Given the description of an element on the screen output the (x, y) to click on. 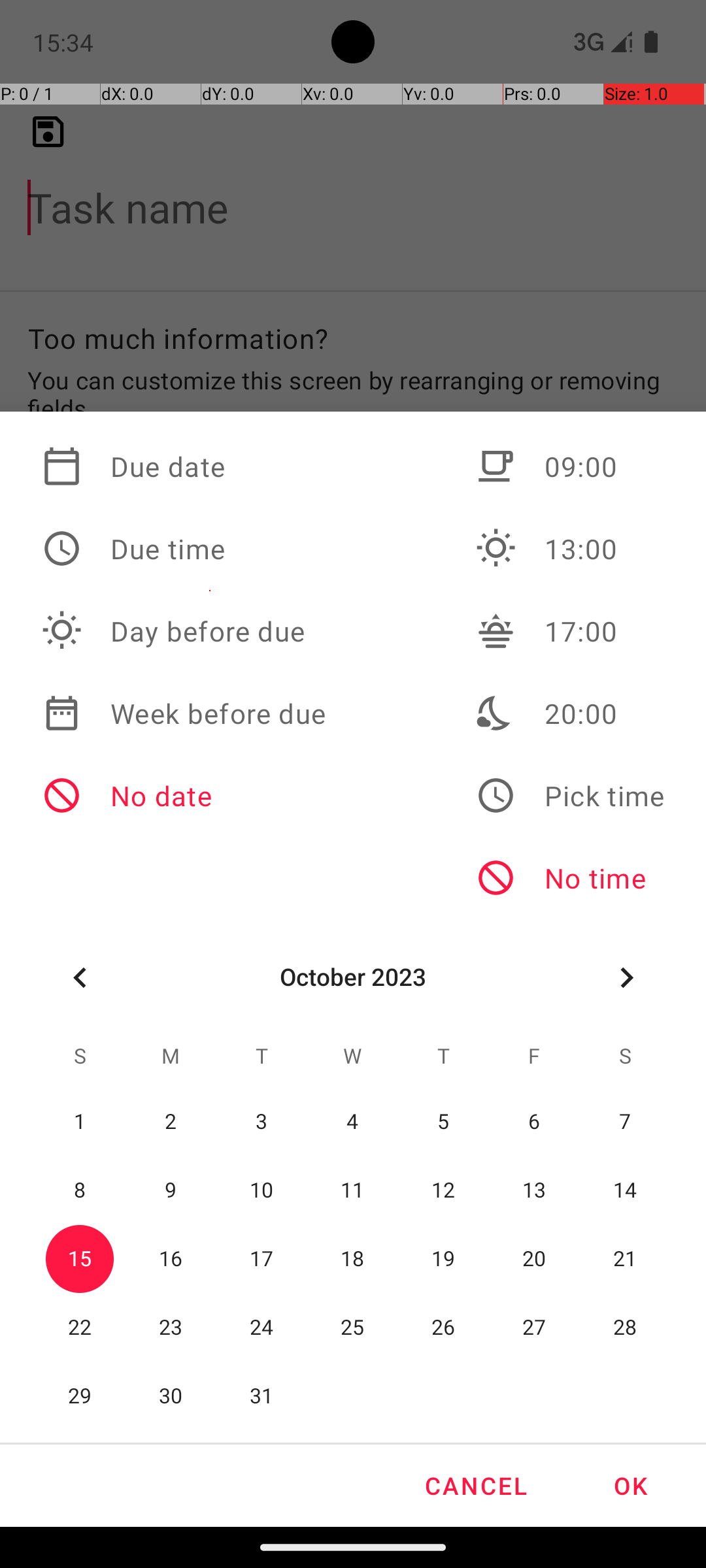
Due date Element type: android.widget.CompoundButton (183, 466)
Due time Element type: android.widget.CompoundButton (183, 548)
Day before due Element type: android.widget.CompoundButton (183, 630)
Week before due Element type: android.widget.CompoundButton (183, 713)
